Given the description of an element on the screen output the (x, y) to click on. 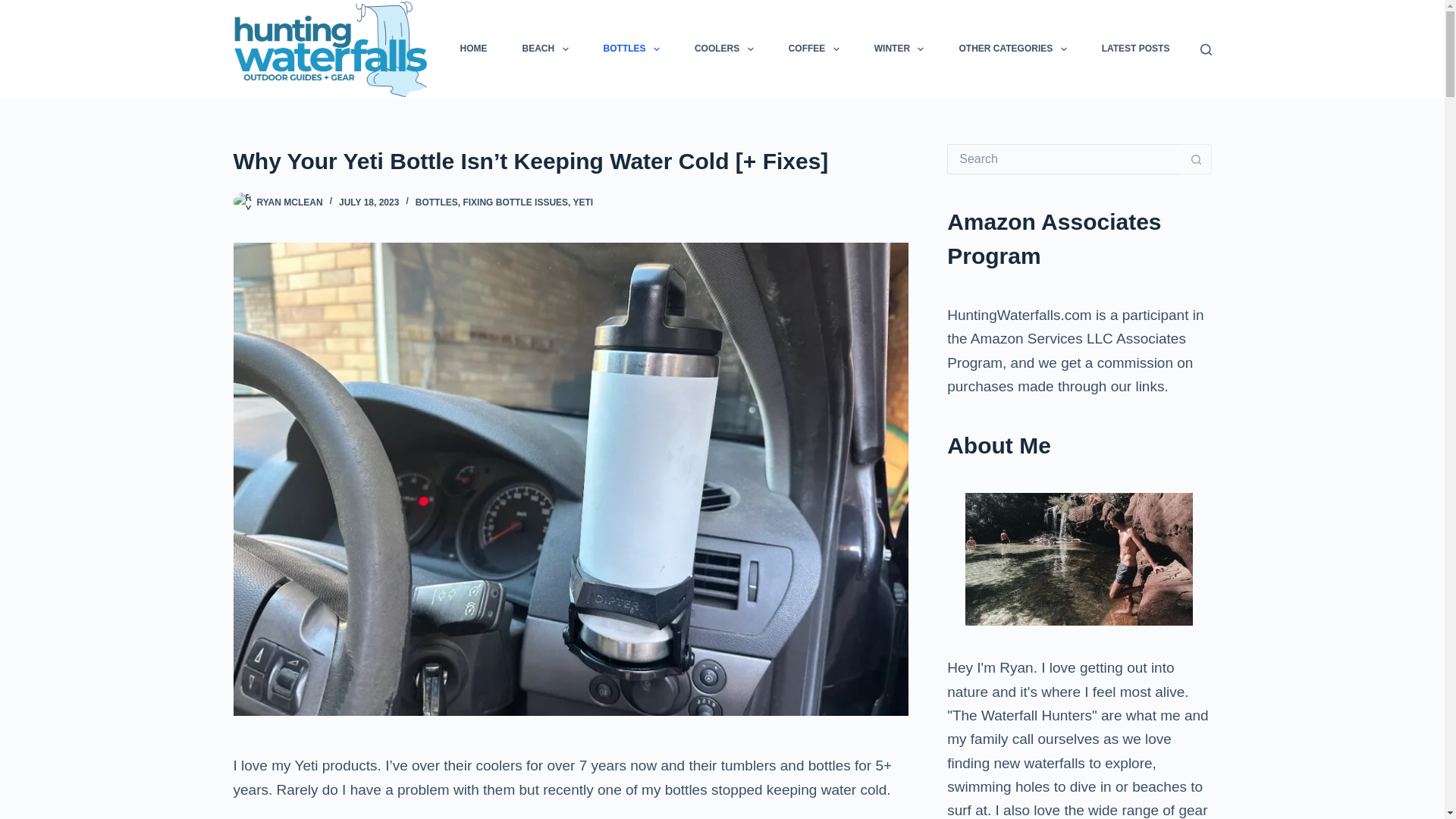
Skip to content (15, 7)
COOLERS (724, 49)
Posts by Ryan McLean (288, 202)
BOTTLES (631, 49)
Search for... (1063, 159)
